Given the description of an element on the screen output the (x, y) to click on. 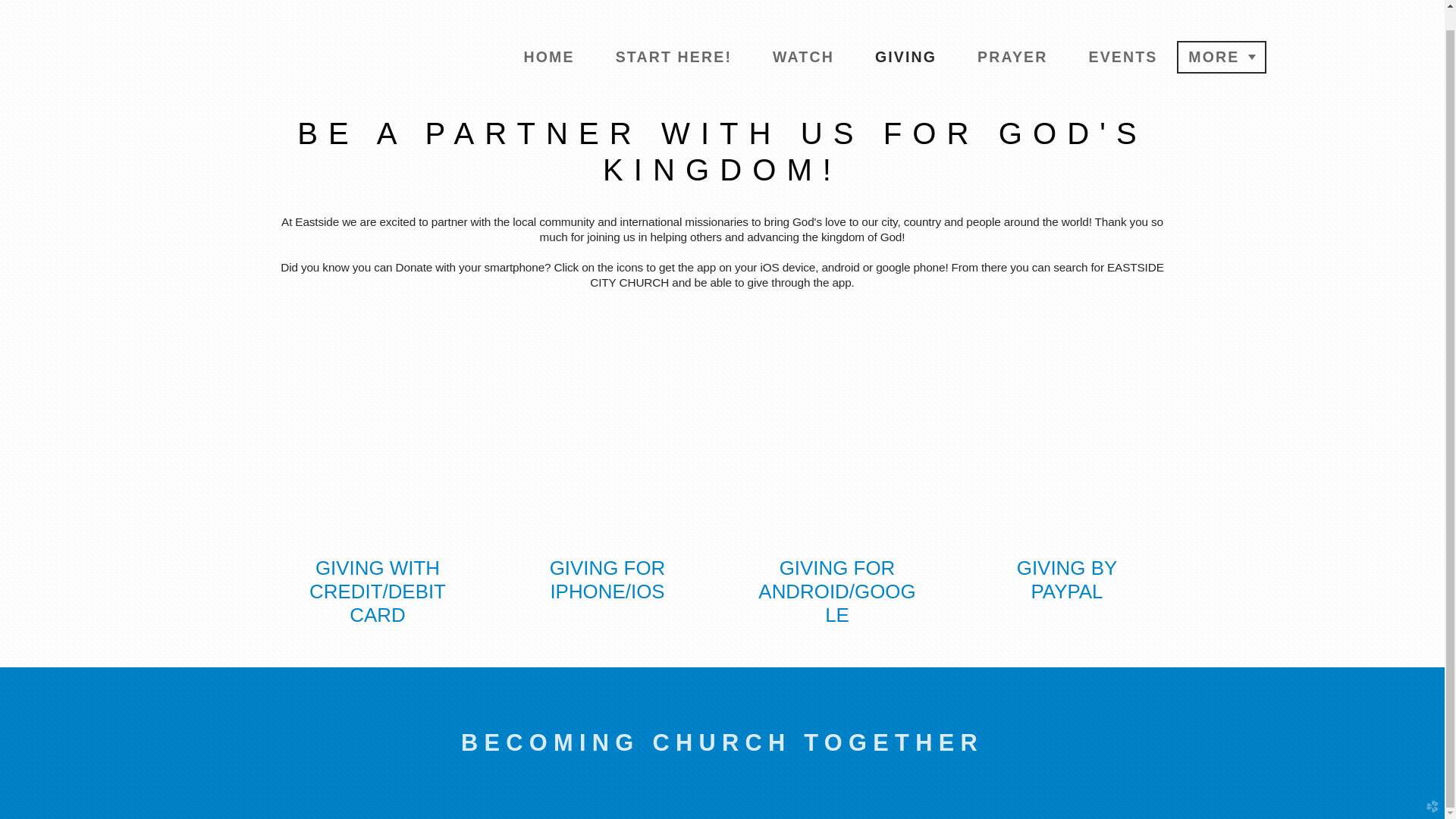
START HERE! (673, 56)
WATCH (803, 56)
HOME (549, 56)
